Given the description of an element on the screen output the (x, y) to click on. 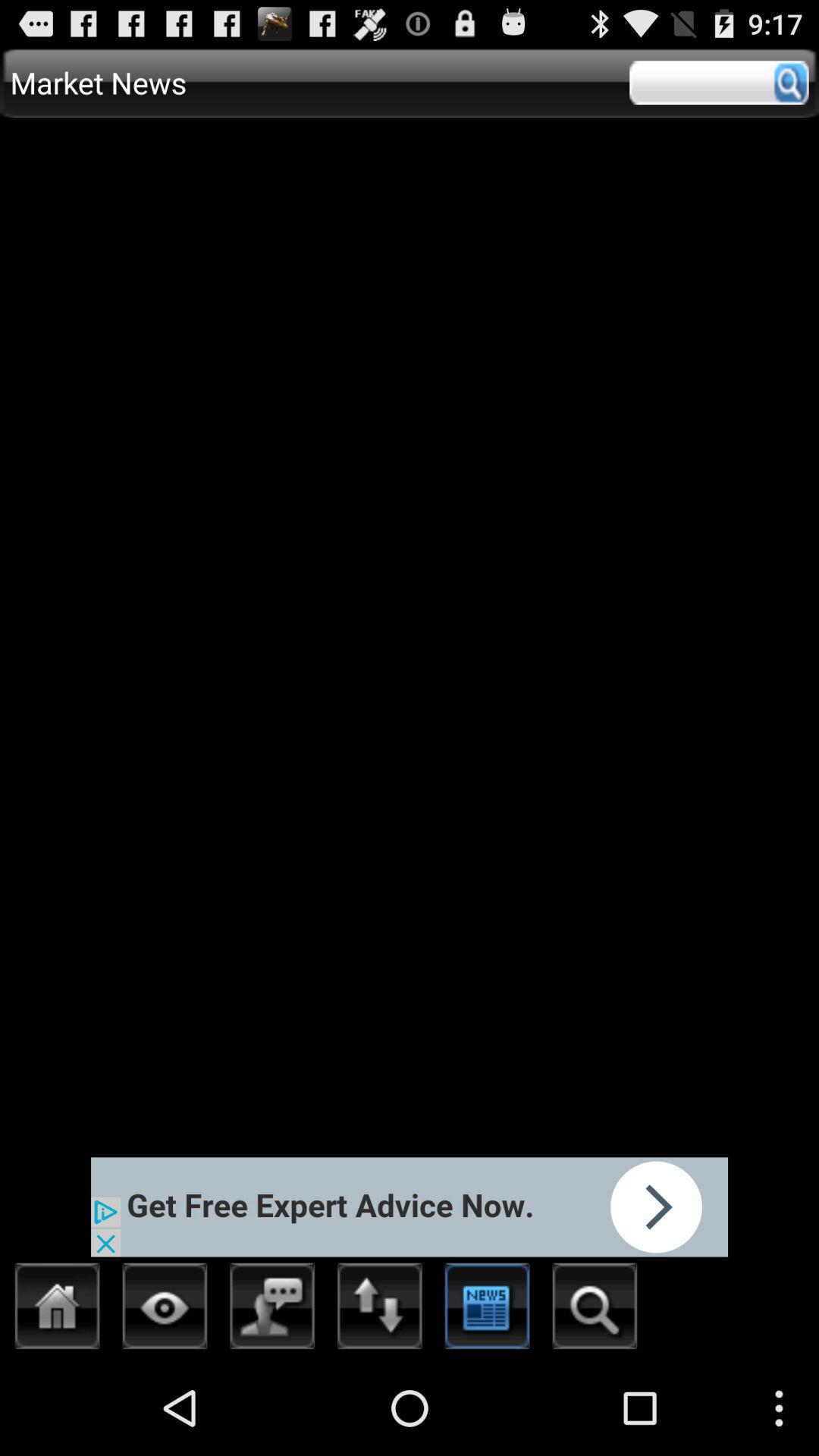
search for something (594, 1310)
